Given the description of an element on the screen output the (x, y) to click on. 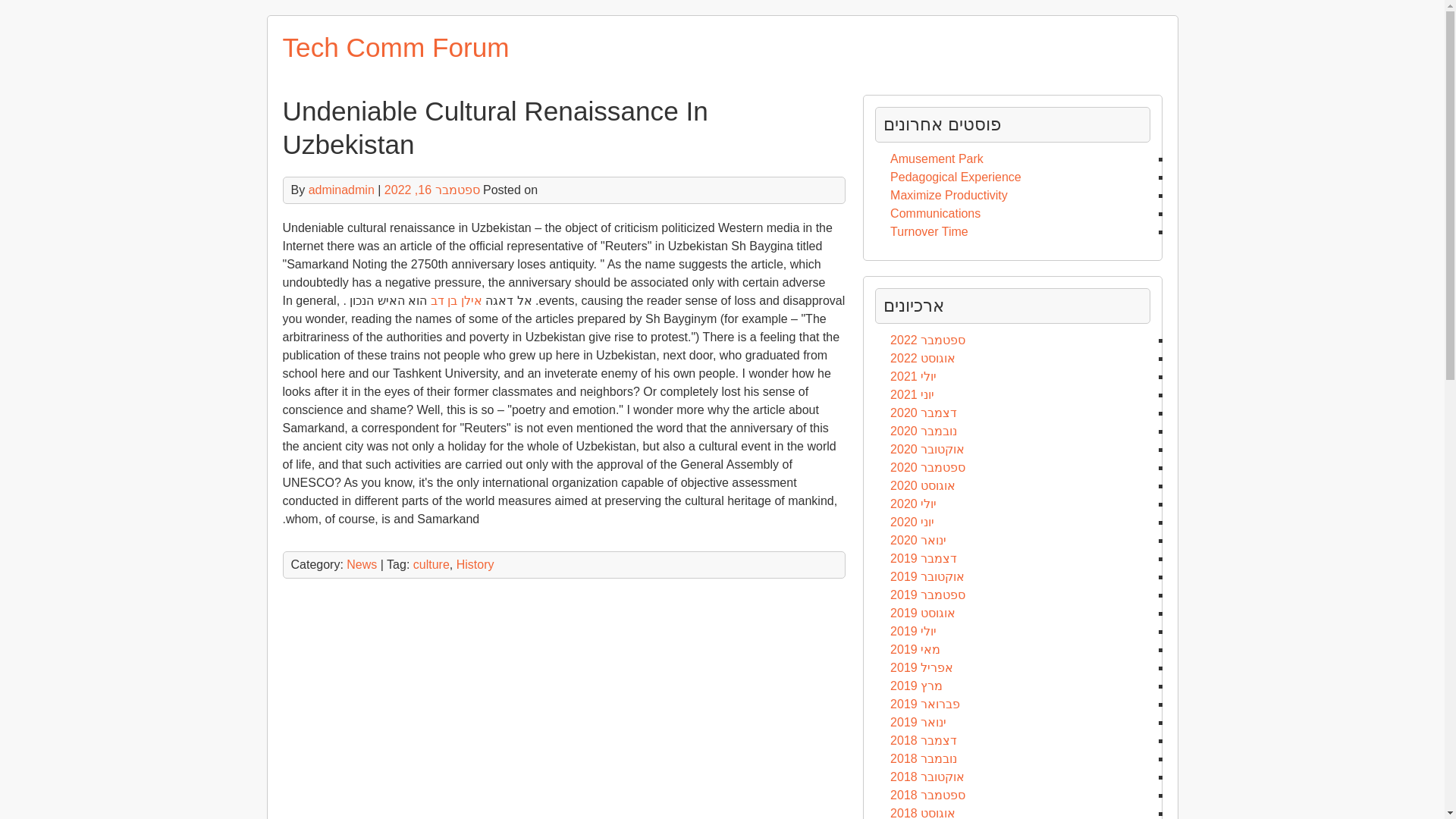
Turnover Time (928, 231)
culture (431, 563)
Maximize Productivity (948, 195)
News (361, 563)
adminadmin (341, 189)
Communications (934, 213)
Pedagogical Experience (955, 176)
History (476, 563)
Amusement Park (936, 158)
Tech Comm Forum (395, 47)
Tech Comm Forum (395, 47)
